Given the description of an element on the screen output the (x, y) to click on. 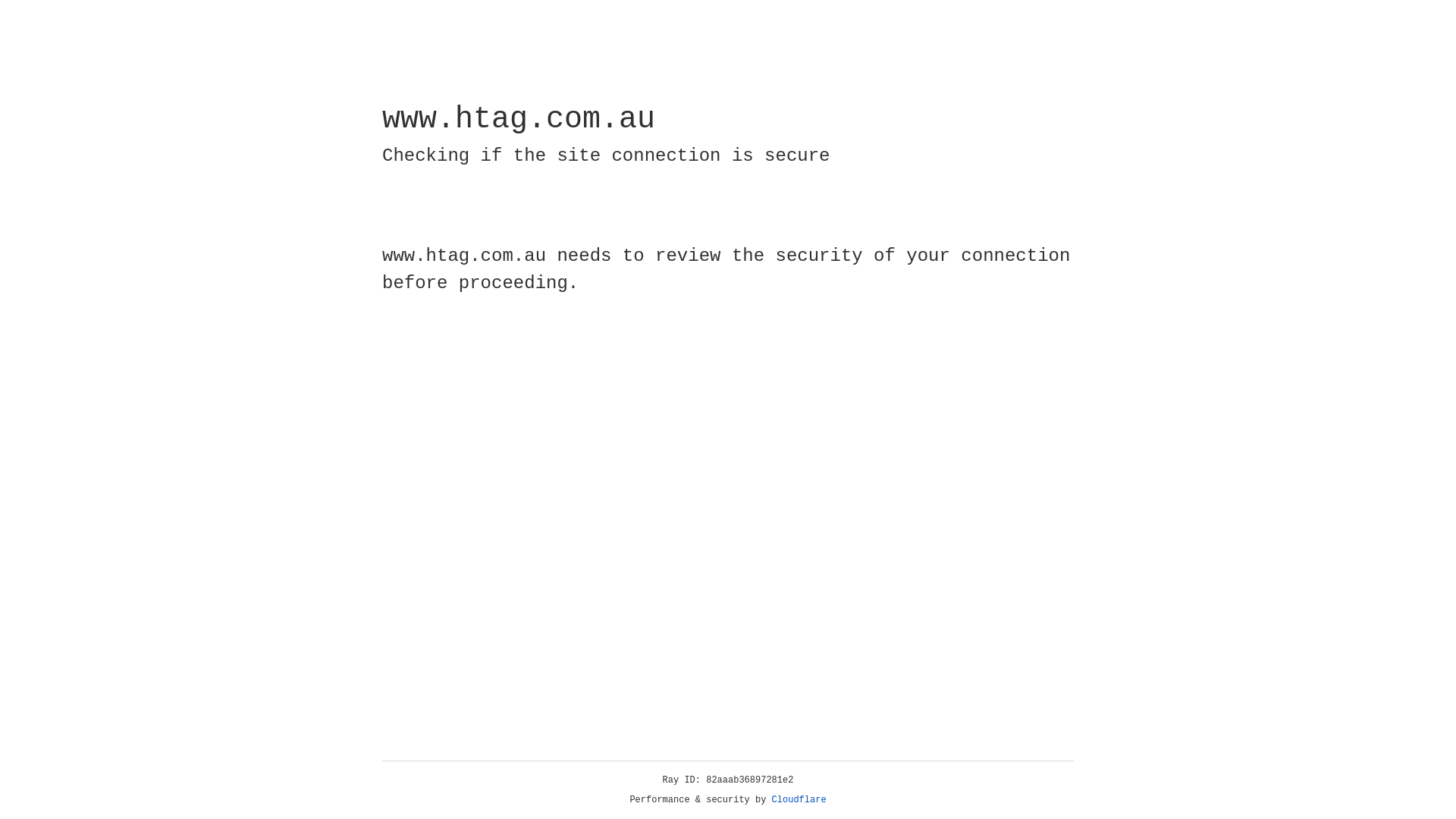
Cloudflare Element type: text (798, 799)
